Given the description of an element on the screen output the (x, y) to click on. 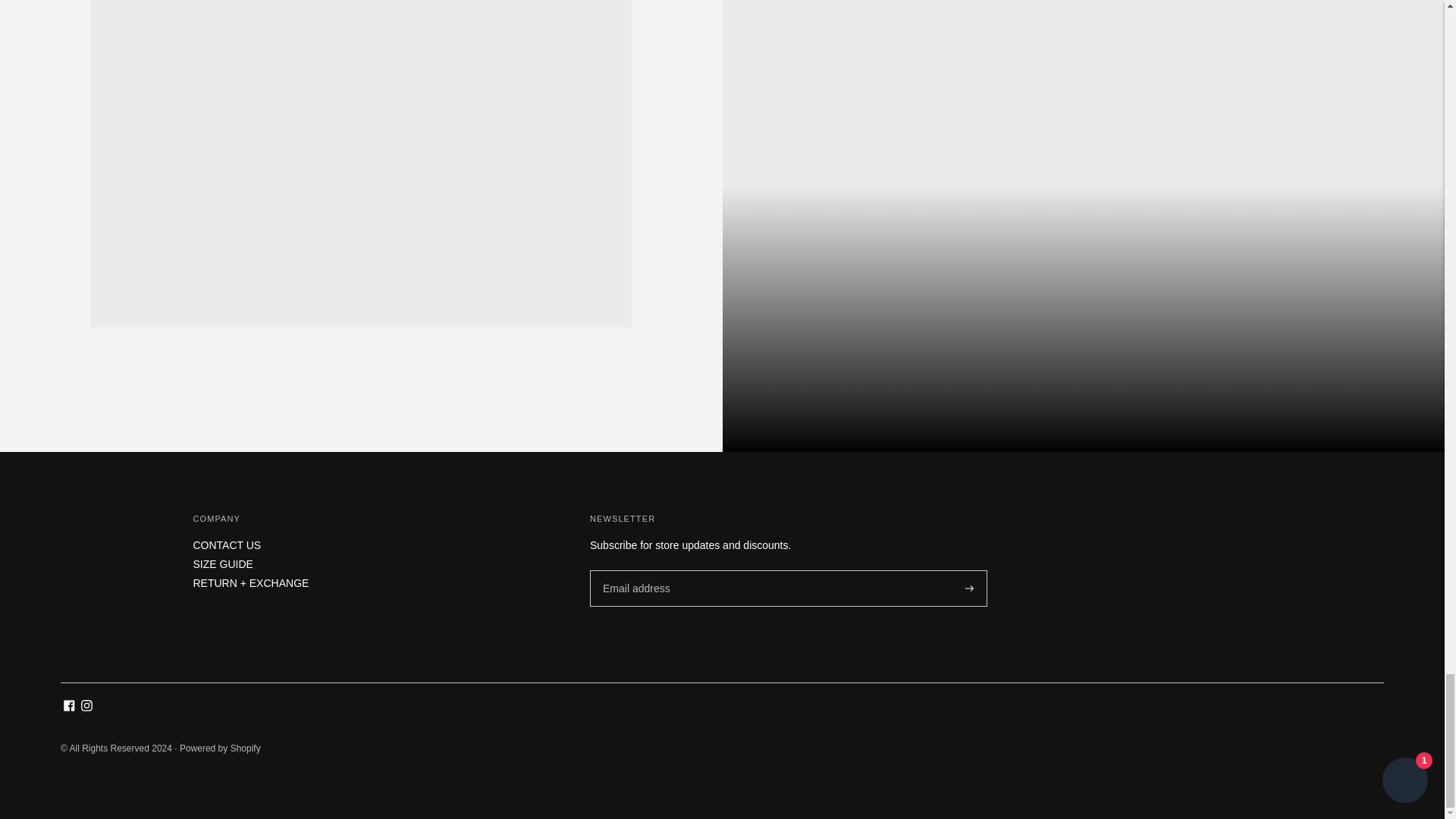
Nicola Screen  on Facebook (69, 707)
Nicola Screen  on Instagram (87, 707)
